Given the description of an element on the screen output the (x, y) to click on. 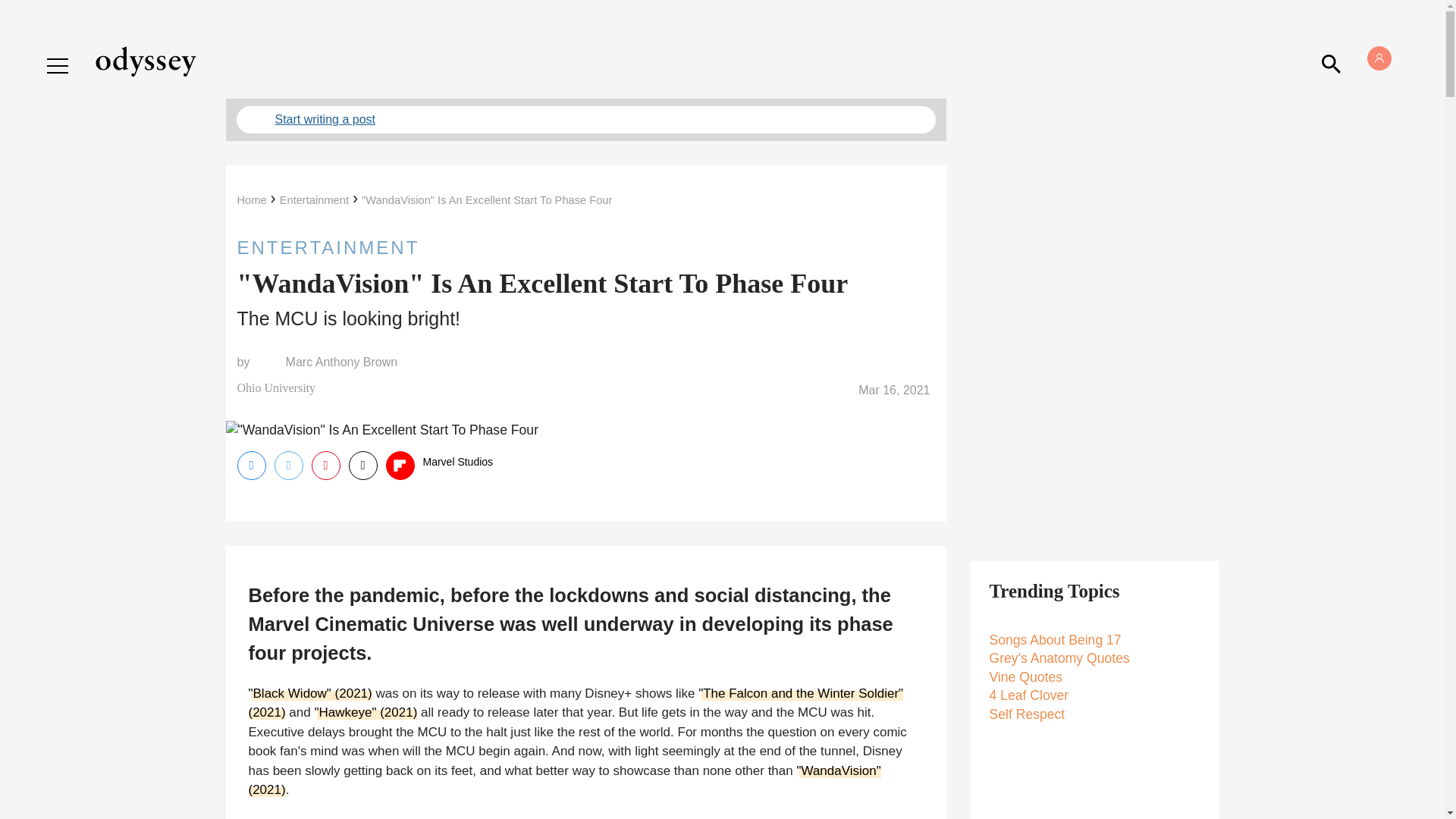
Start writing a post (585, 119)
Home (250, 200)
"WandaVision" Is An Excellent Start To Phase Four (486, 200)
Marc Anthony Brown (341, 362)
Entertainment (314, 200)
ENTERTAINMENT (584, 248)
